Given the description of an element on the screen output the (x, y) to click on. 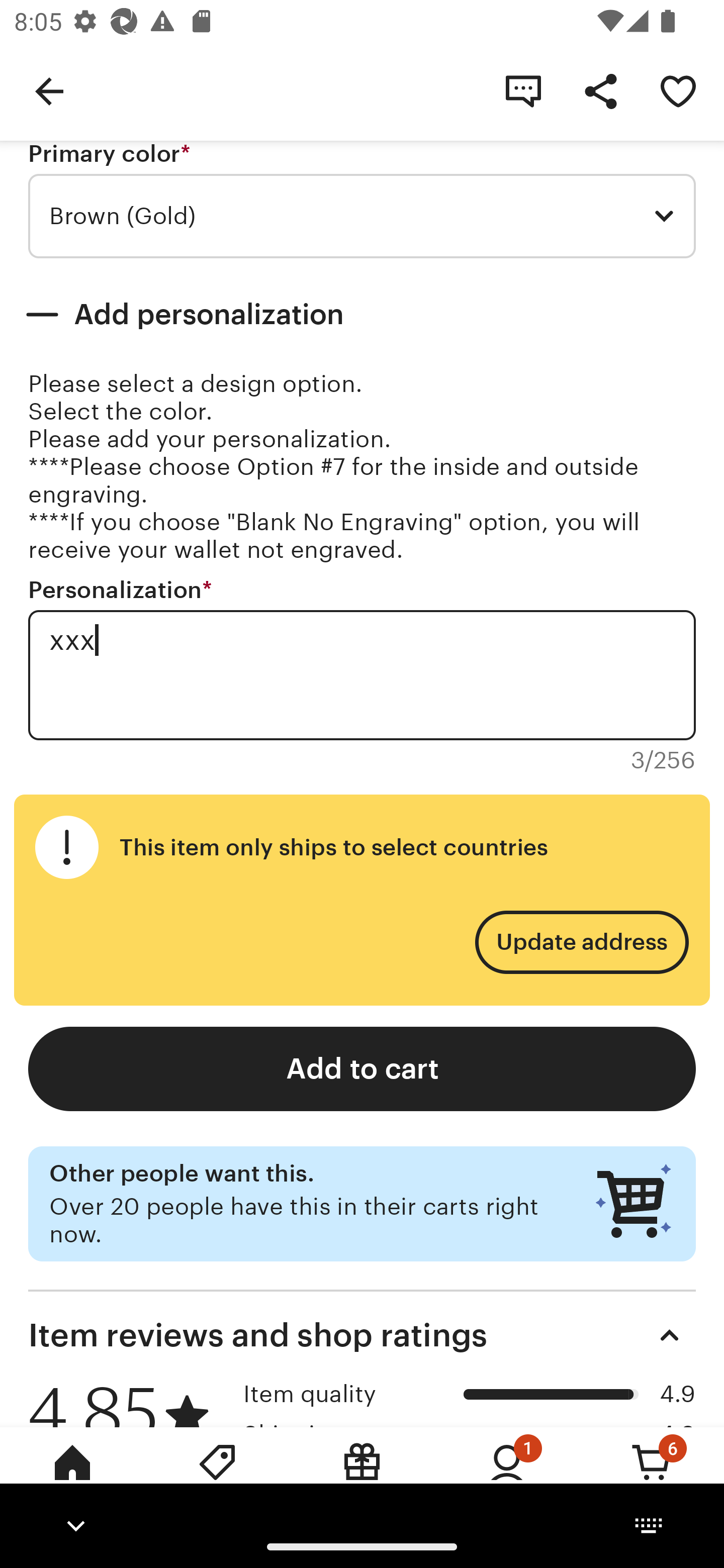
Navigate up (49, 90)
Contact shop (523, 90)
Share (600, 90)
Primary color * Required Brown (Gold) (361, 199)
Brown (Gold) (361, 216)
Add personalization Add personalization Required (362, 314)
xxx (361, 674)
Update address (581, 942)
Add to cart (361, 1069)
Item reviews and shop ratings (362, 1334)
Deals (216, 1475)
Gift Mode (361, 1475)
You, 1 new notification (506, 1475)
Cart, 6 new notifications (651, 1475)
